Given the description of an element on the screen output the (x, y) to click on. 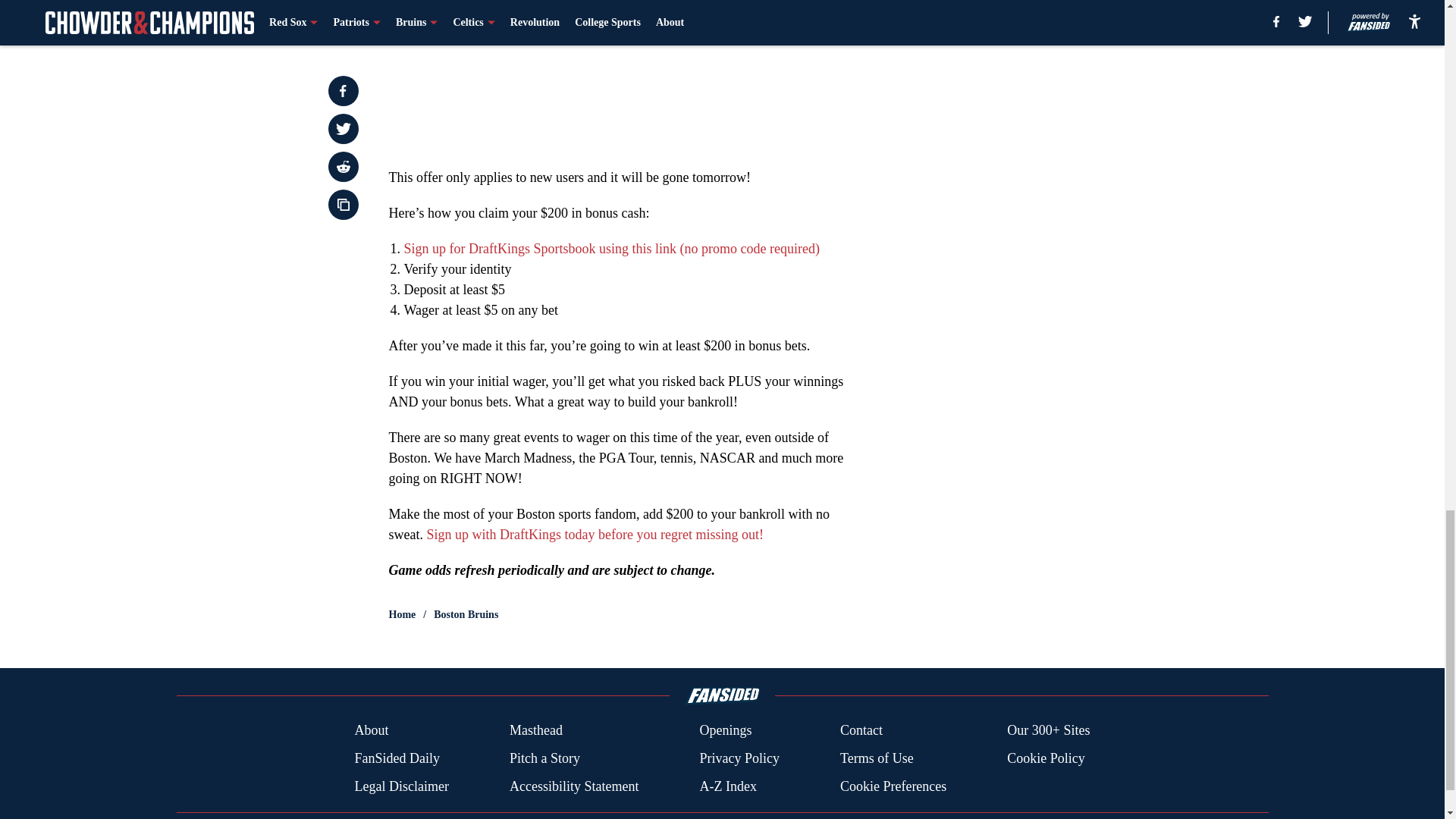
About (370, 730)
Home (401, 614)
Openings (724, 730)
tallysight (622, 76)
Boston Bruins (465, 614)
Masthead (535, 730)
